Given the description of an element on the screen output the (x, y) to click on. 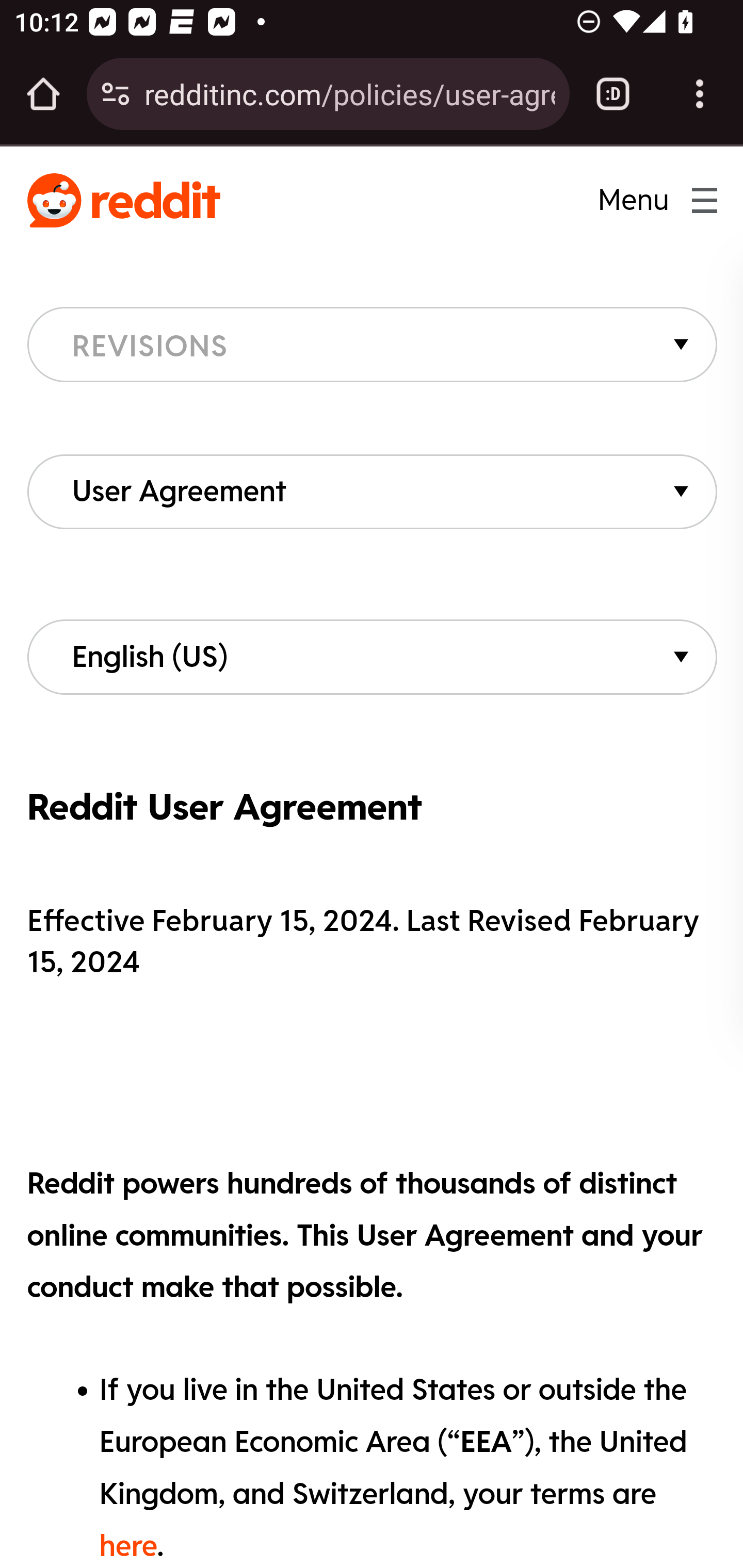
Open the home page (43, 93)
Connection is secure (115, 93)
Switch or close tabs (612, 93)
Customize and control Google Chrome (699, 93)
redditinc.com/policies/user-agreement (349, 92)
reddit (123, 201)
Menu (644, 199)
here (128, 1545)
